Given the description of an element on the screen output the (x, y) to click on. 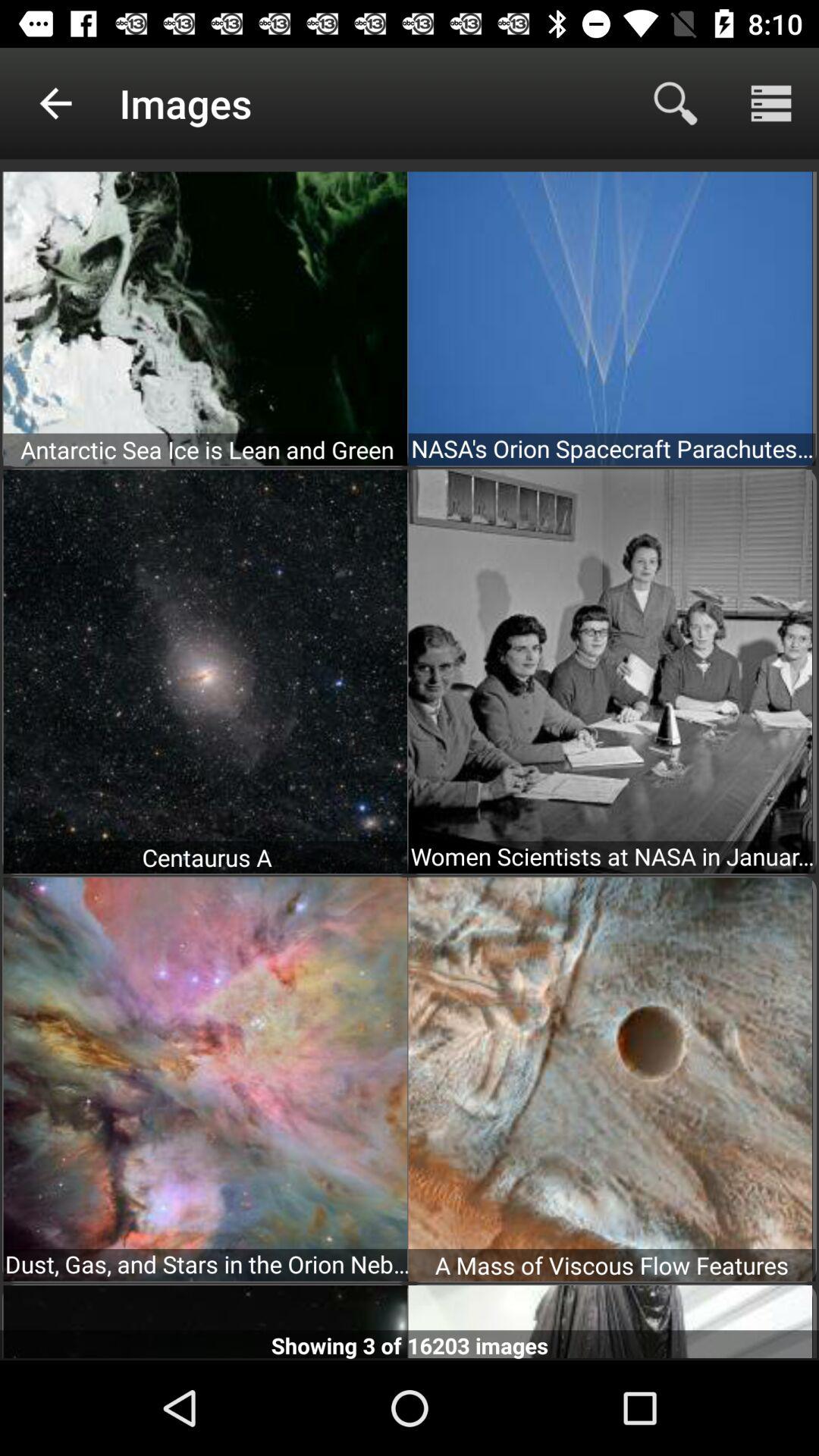
click icon to the right of the images (675, 103)
